Given the description of an element on the screen output the (x, y) to click on. 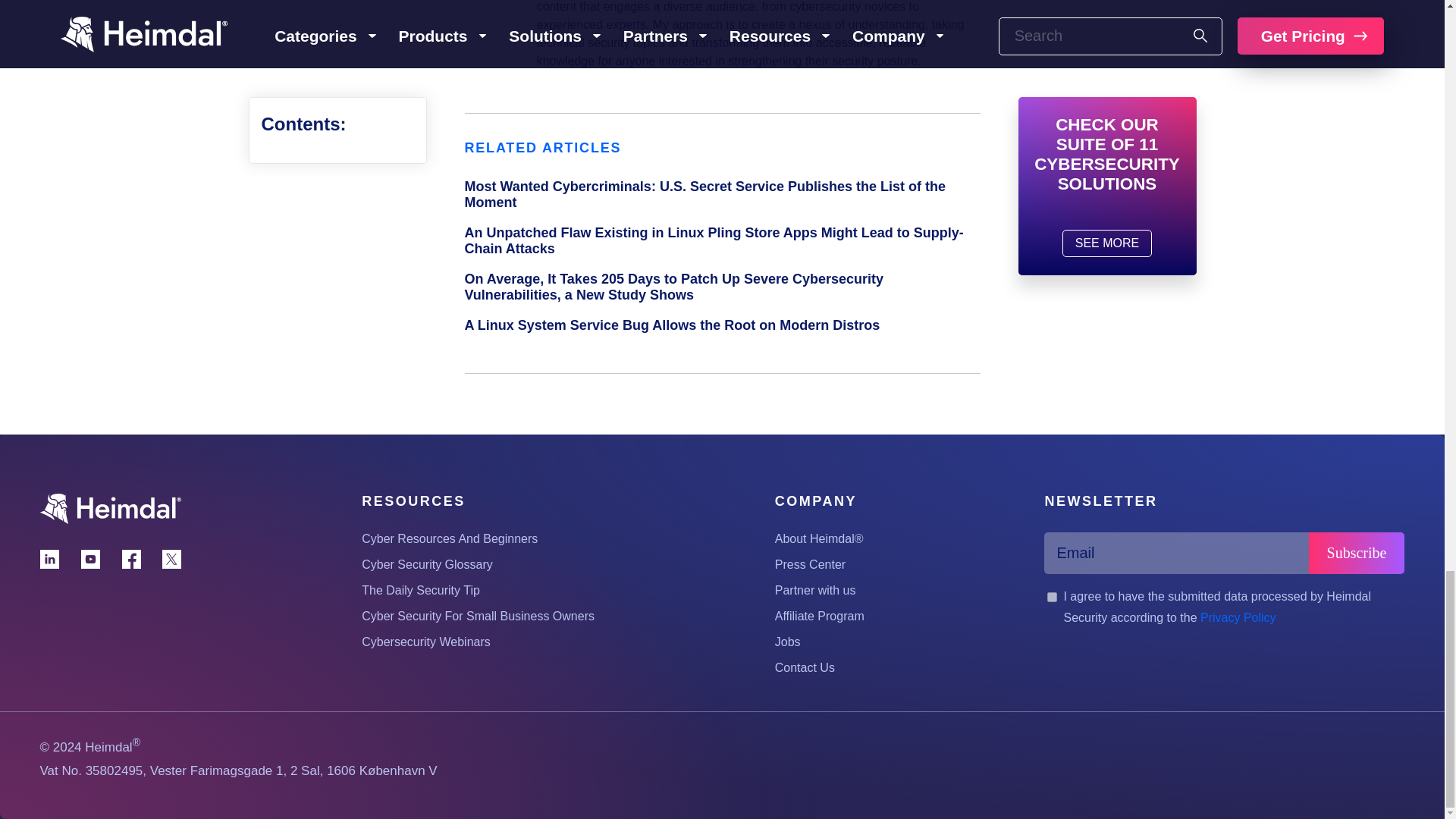
1 (1051, 596)
